Given the description of an element on the screen output the (x, y) to click on. 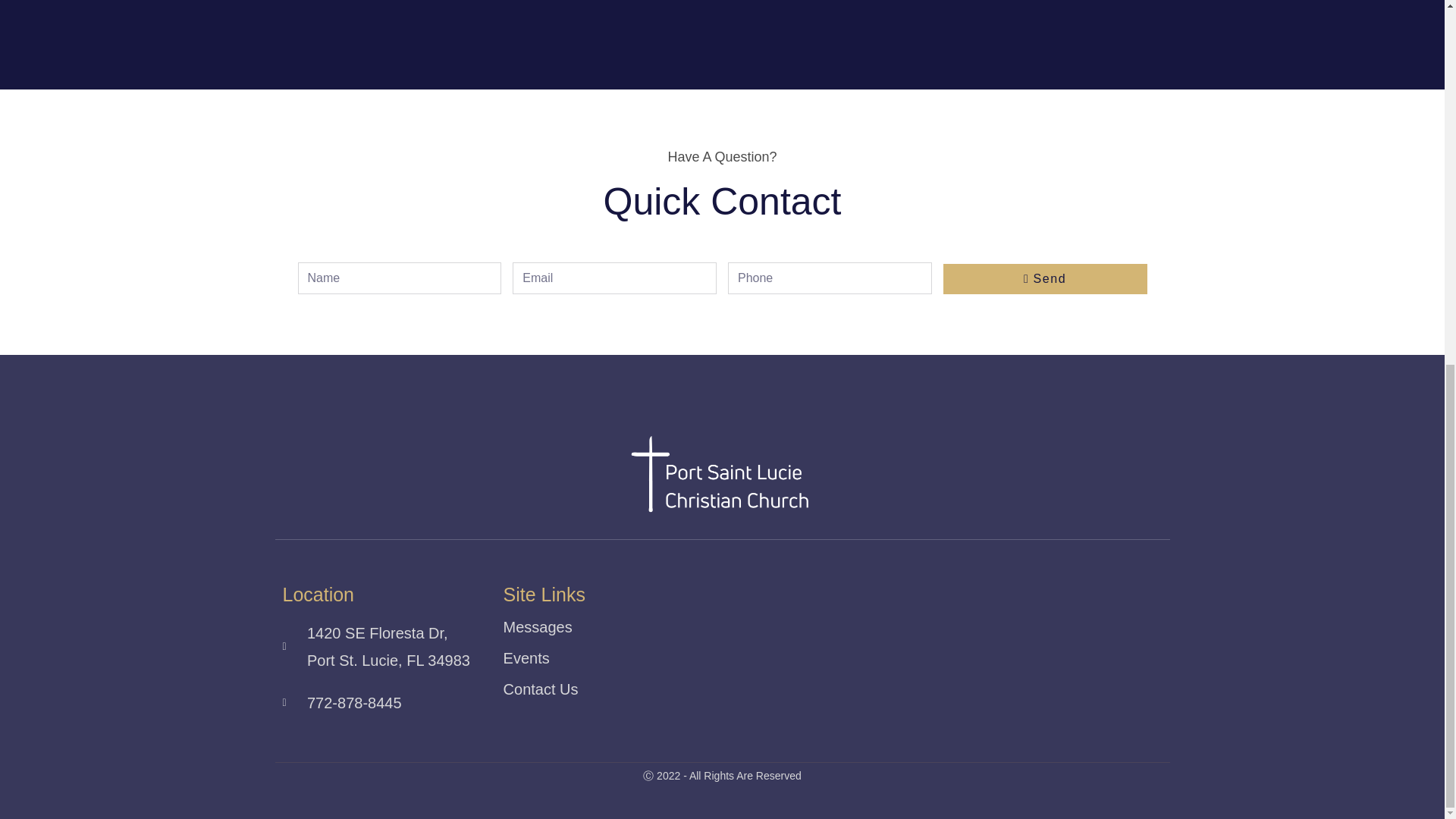
Events (569, 657)
Messages (569, 626)
Send (1045, 278)
Contact Us (569, 688)
